Given the description of an element on the screen output the (x, y) to click on. 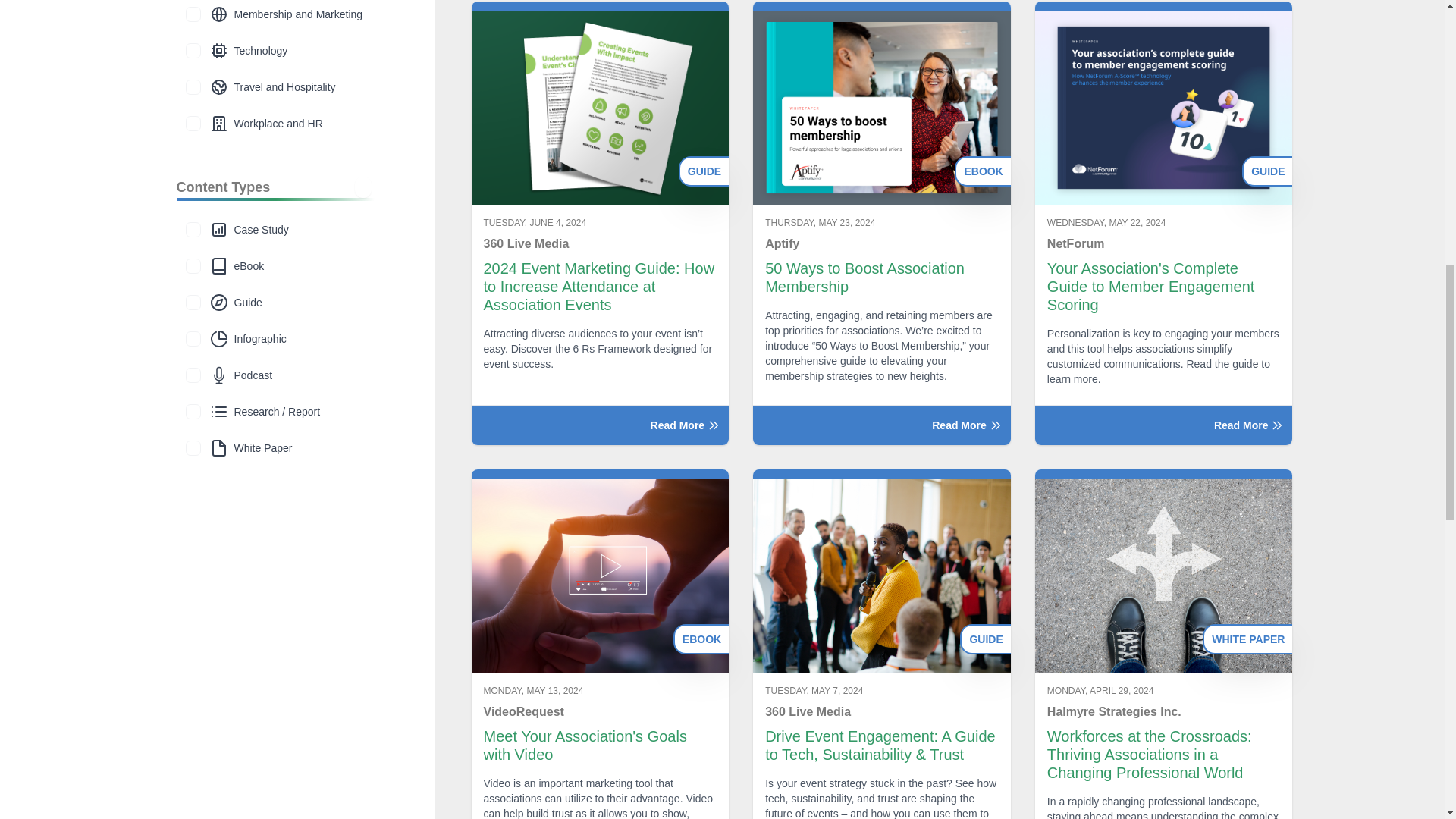
360 Live Media (881, 711)
eBook (192, 265)
Technology (192, 50)
Membership and Marketing (192, 14)
50 Ways to Boost Association Membership (881, 277)
Halmyre Strategies Inc. (1163, 711)
Aptify (881, 244)
White Paper (192, 447)
Read More (600, 425)
360 Live Media (600, 244)
VideoRequest (600, 711)
NetForum (1163, 244)
Read More (881, 425)
Podcast (192, 375)
Aptify (881, 244)
